Given the description of an element on the screen output the (x, y) to click on. 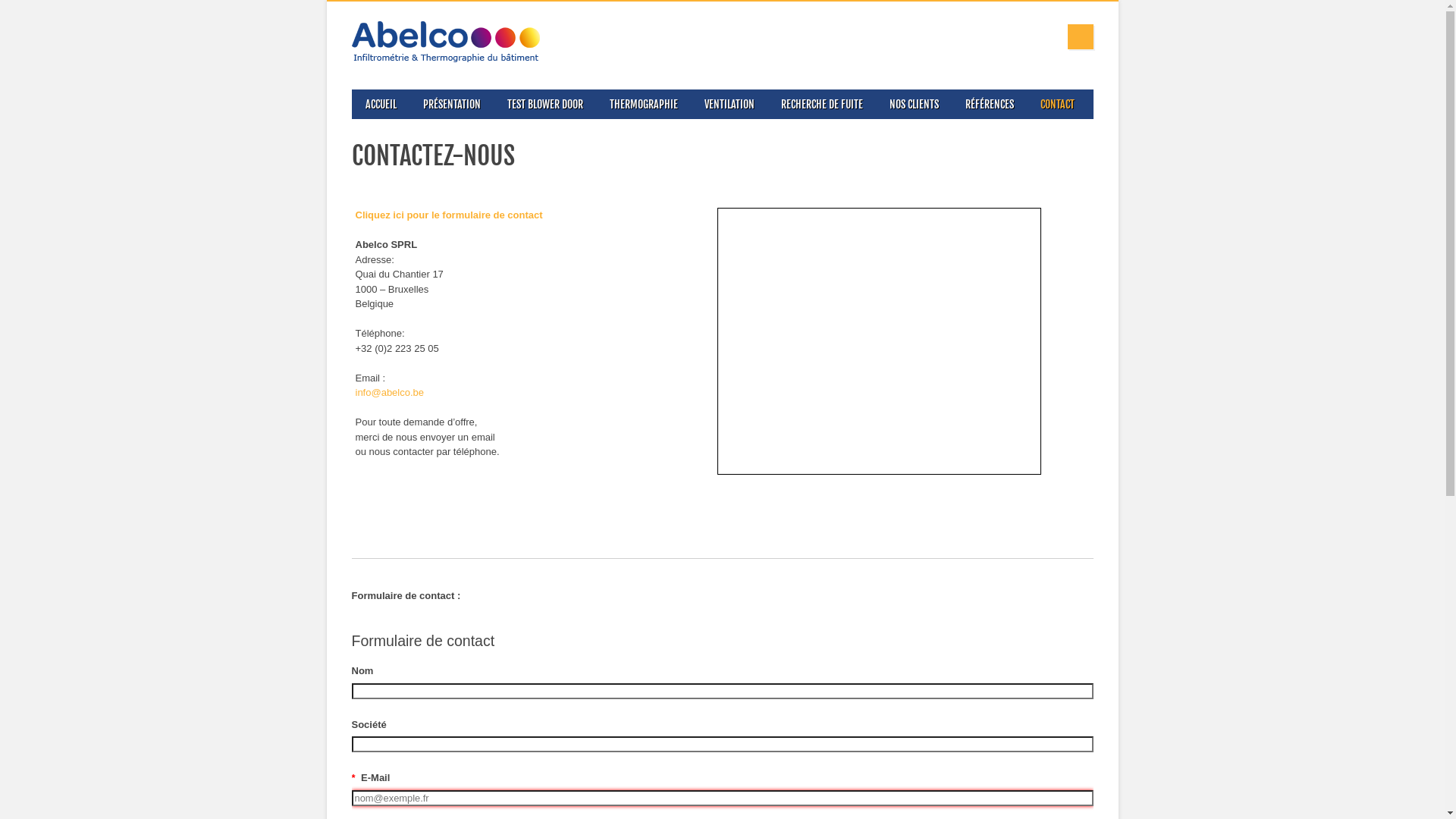
Abelco Element type: hover (445, 62)
info@abelco.be Element type: text (388, 392)
ACCUEIL Element type: text (380, 104)
TEST BLOWER DOOR Element type: text (543, 104)
NOS CLIENTS Element type: text (912, 104)
VENTILATION Element type: text (728, 104)
THERMOGRAPHIE Element type: text (643, 104)
Cliquez ici pour le formulaire de contact Element type: text (448, 214)
CONTACT Element type: text (1056, 104)
RECHERCHE DE FUITE Element type: text (821, 104)
